Given the description of an element on the screen output the (x, y) to click on. 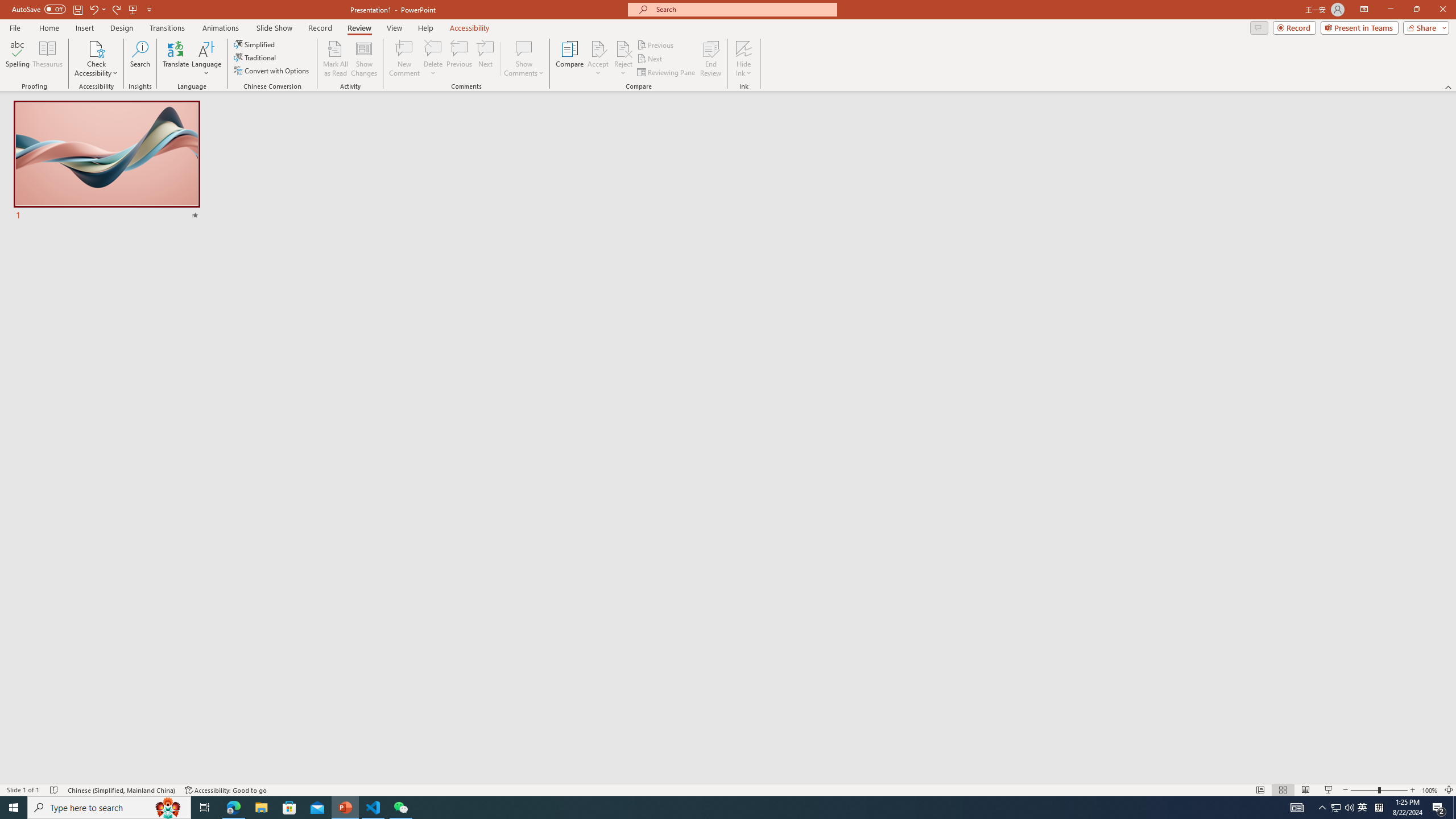
Show Changes (363, 58)
Thesaurus... (47, 58)
Accessibility Checker Accessibility: Good to go (226, 790)
Translate (175, 58)
Spell Check No Errors (54, 790)
Class: MsoCommandBar (728, 789)
Convert with Options... (272, 69)
Hide Ink (743, 58)
